Given the description of an element on the screen output the (x, y) to click on. 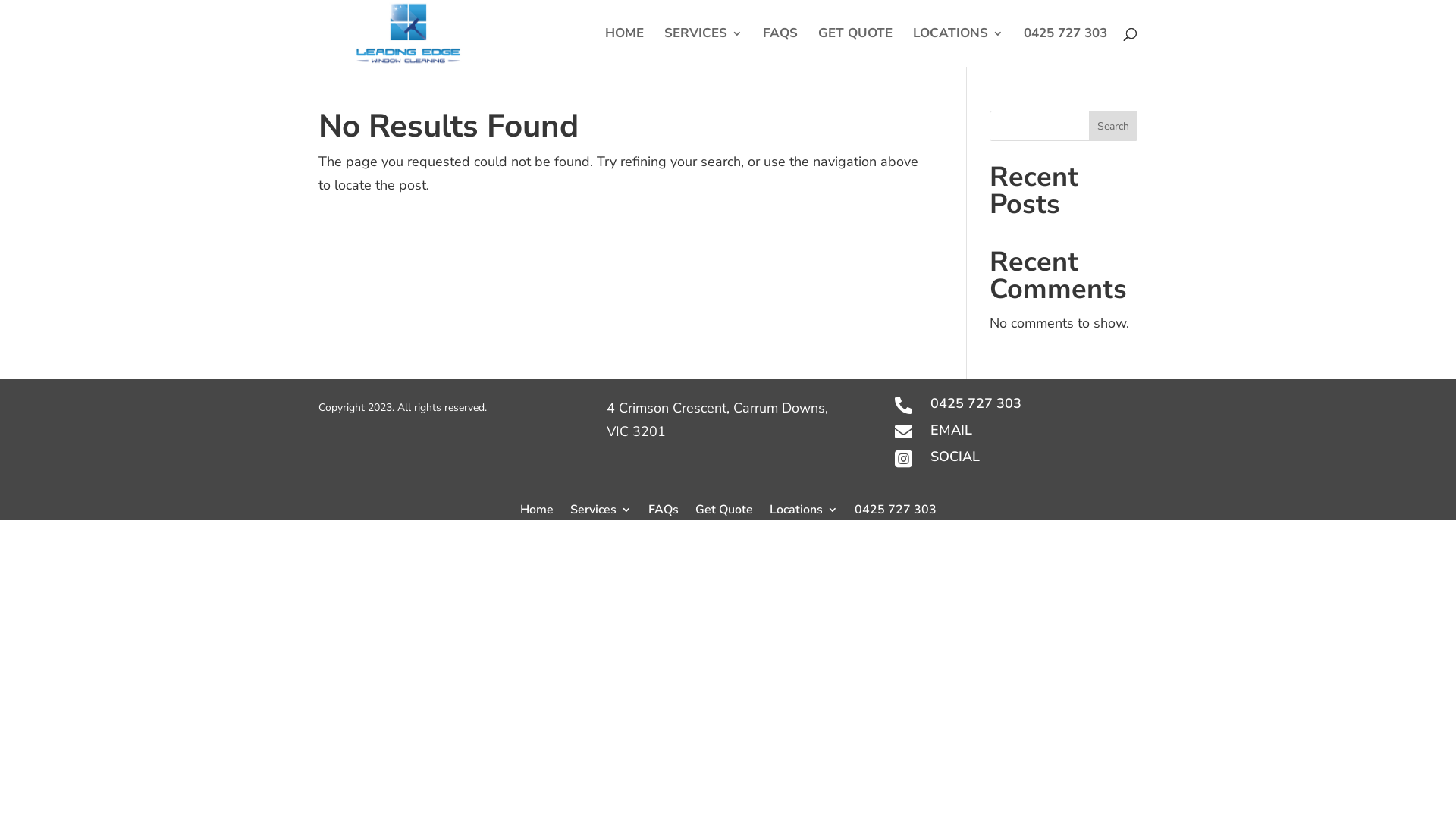
0425 727 303 Element type: text (1065, 47)
LOCATIONS Element type: text (958, 47)
Locations Element type: text (802, 506)
Services Element type: text (600, 506)
HOME Element type: text (624, 47)
0425 727 303 Element type: text (894, 506)
SERVICES Element type: text (703, 47)
FAQs Element type: text (662, 506)
Search Element type: text (1112, 125)
EMAIL Element type: text (951, 429)
SOCIAL Element type: text (954, 456)
FAQS Element type: text (779, 47)
Get Quote Element type: text (723, 506)
GET QUOTE Element type: text (855, 47)
Home Element type: text (536, 506)
